Given the description of an element on the screen output the (x, y) to click on. 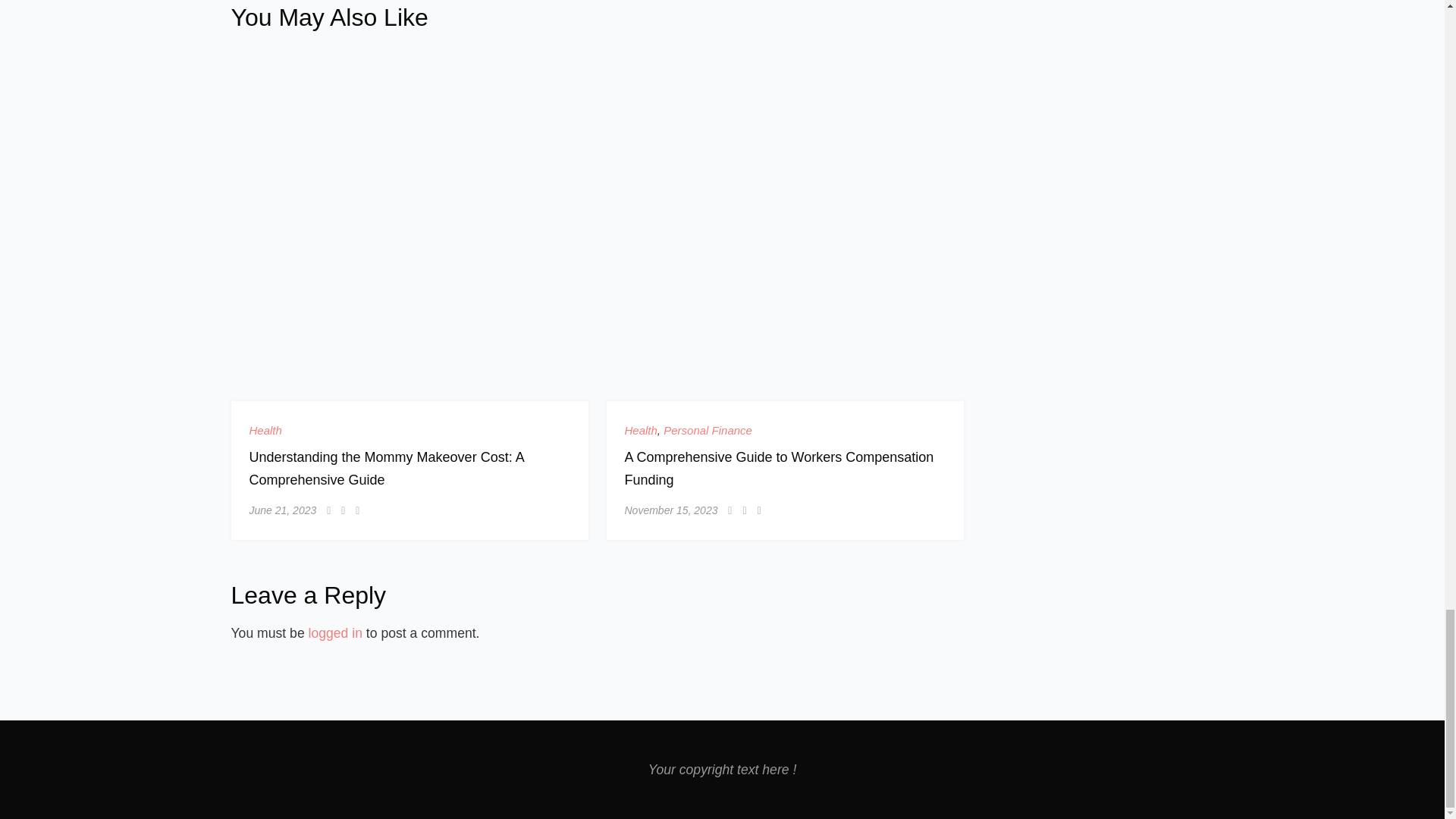
Personal Finance (707, 430)
Understanding the Mommy Makeover Cost: A Comprehensive Guide (385, 468)
Health (264, 430)
November 15, 2023 (670, 510)
logged in (335, 632)
June 21, 2023 (281, 510)
A Comprehensive Guide to Workers Compensation Funding (779, 468)
Health (641, 430)
